Given the description of an element on the screen output the (x, y) to click on. 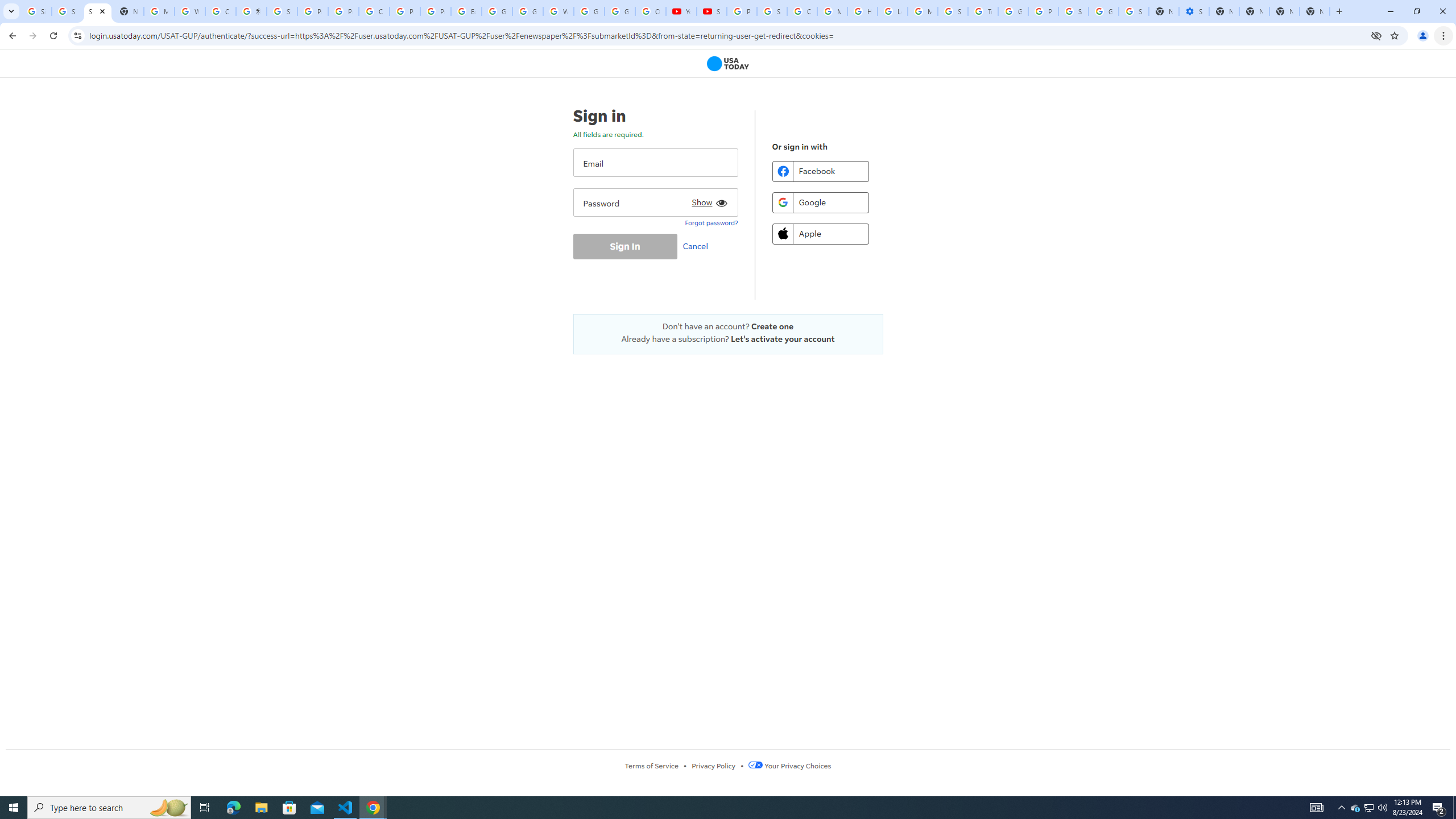
Sign in - Google Accounts (1133, 11)
Settings - Performance (1193, 11)
Sign in - Google Accounts (282, 11)
Google (820, 201)
Trusted Information and Content - Google Safety Center (982, 11)
New Tab (1314, 11)
Sign in - Google Accounts (66, 11)
Create your Google Account (373, 11)
Who is my administrator? - Google Account Help (189, 11)
Google Ads - Sign in (1012, 11)
Don't have an account? Create one (727, 326)
